Given the description of an element on the screen output the (x, y) to click on. 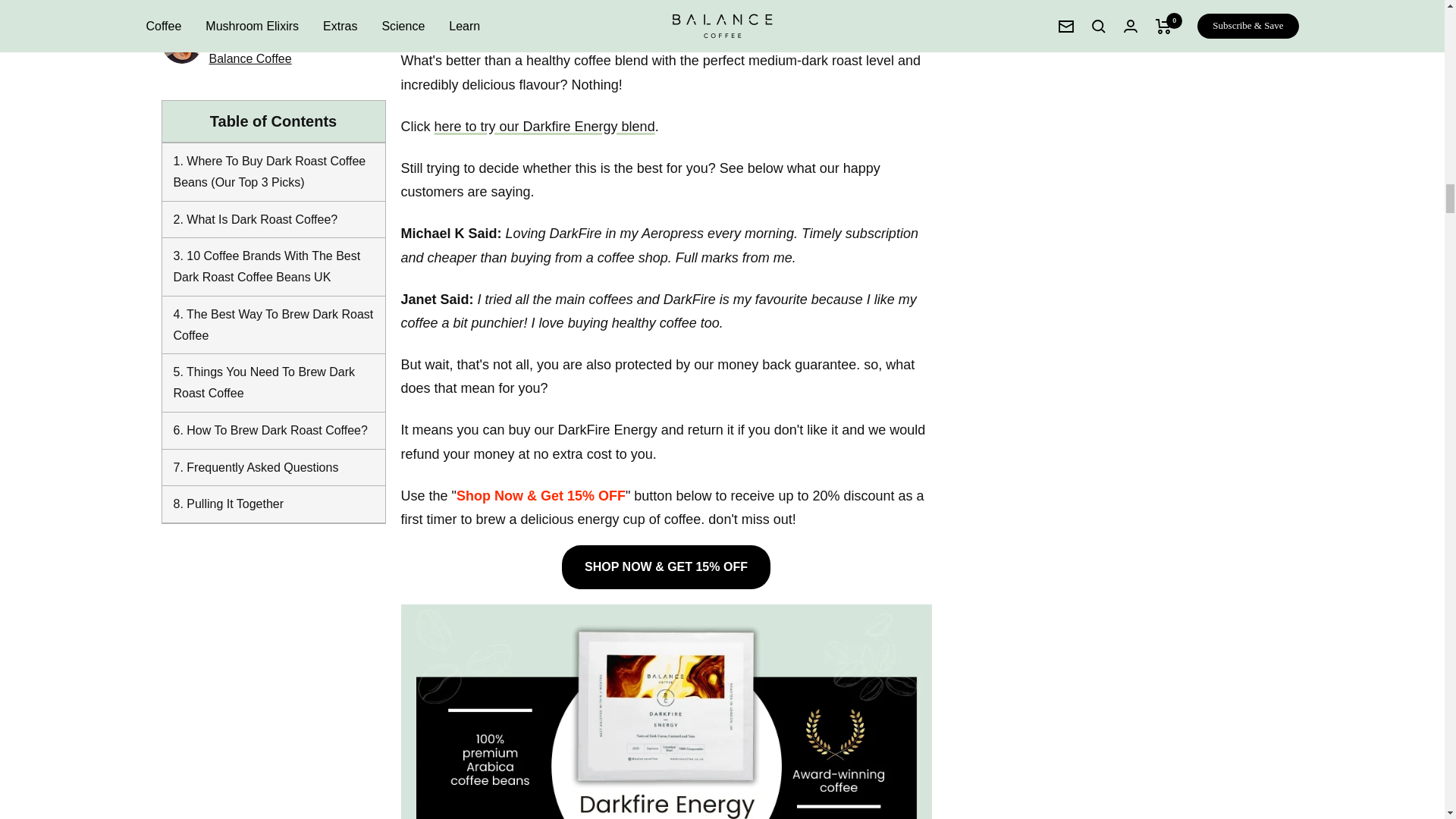
Dark Fire Energy (665, 15)
